Given the description of an element on the screen output the (x, y) to click on. 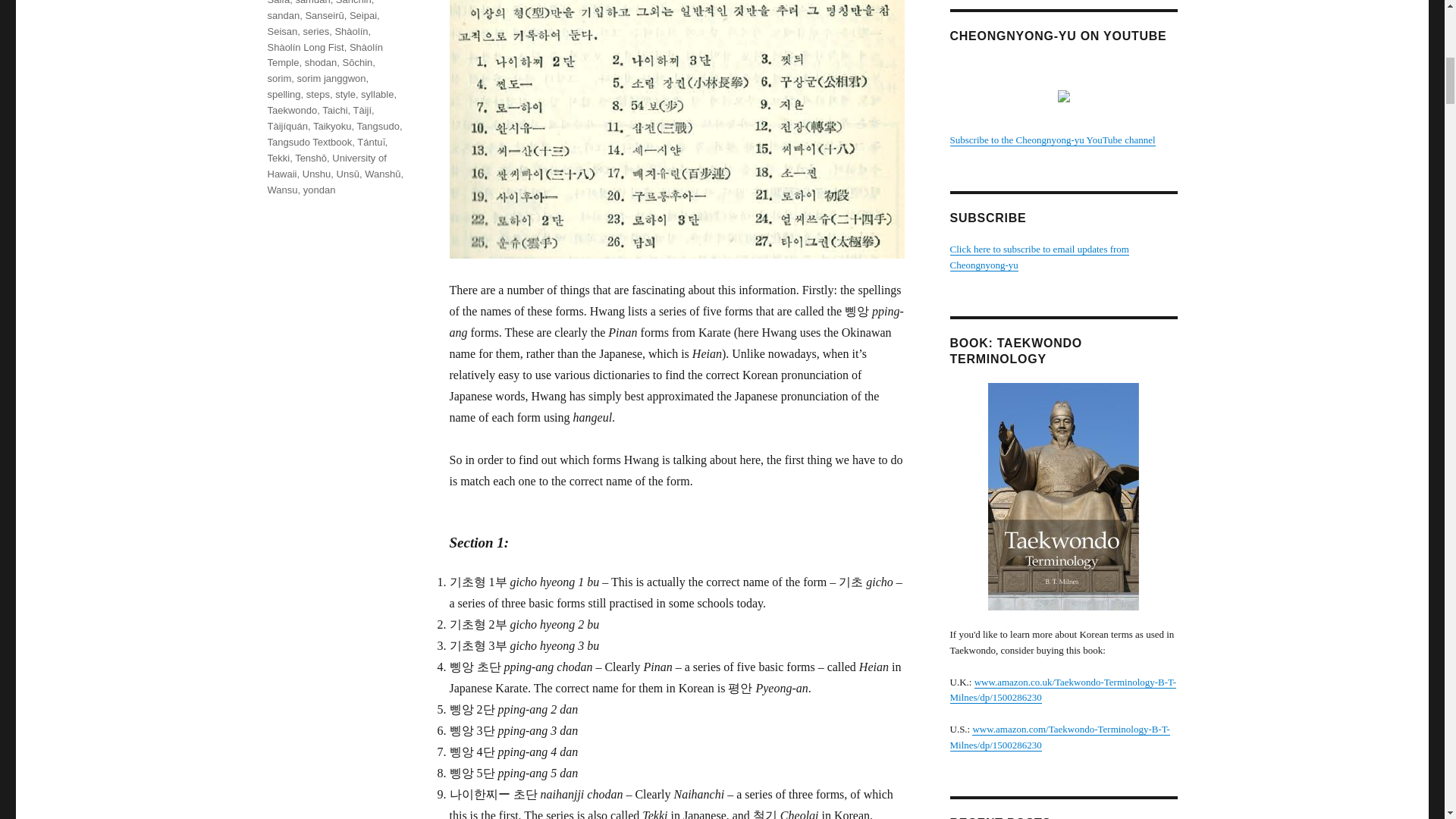
Taekwondo Terminology by B. T. Milnes (1062, 689)
Subscribe (1038, 257)
Taekwondo Terminology by B. T. Milnes (1059, 737)
Cheongnyong-yu on YouTube (1051, 139)
